Given the description of an element on the screen output the (x, y) to click on. 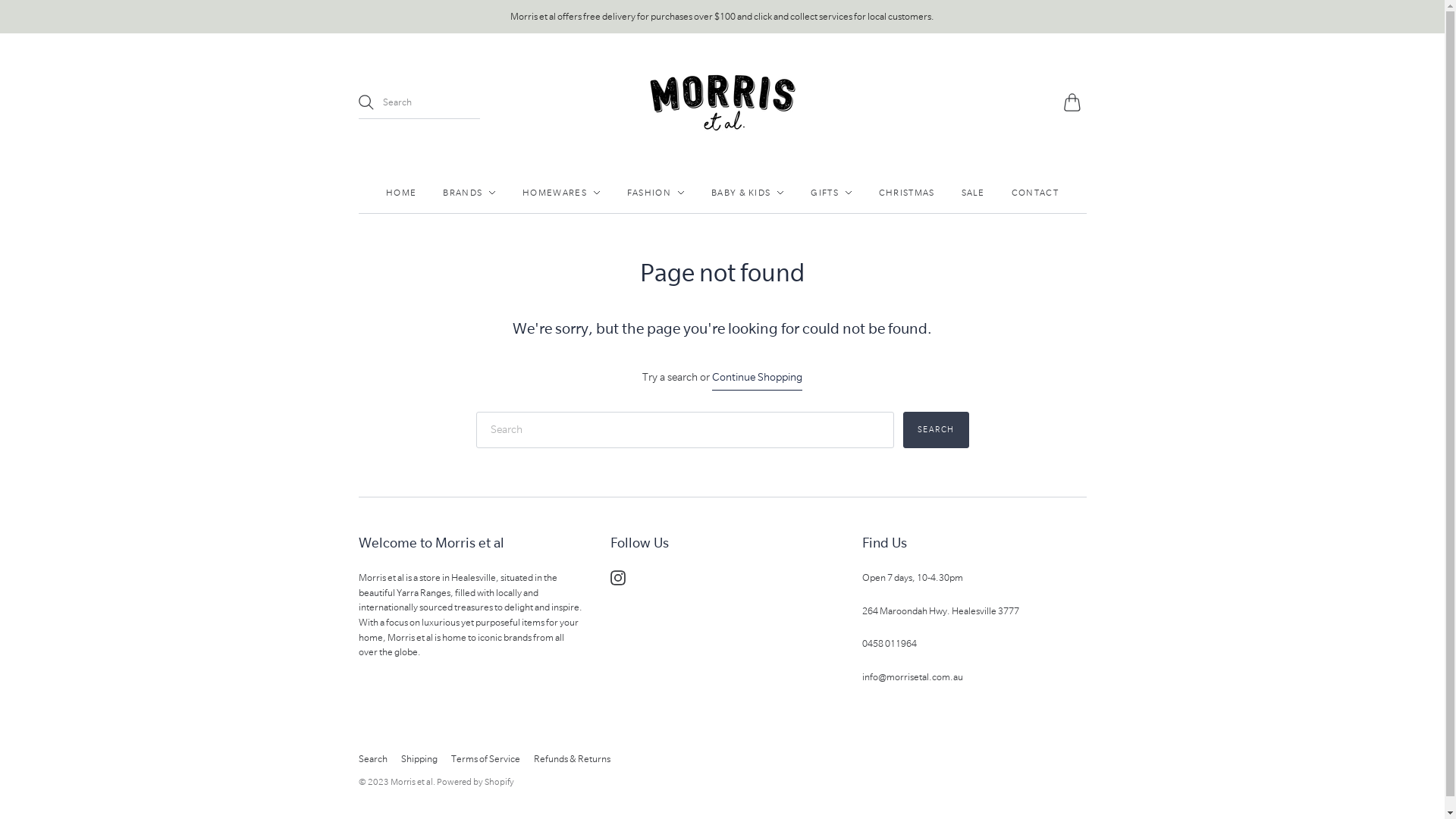
Cart Element type: text (1074, 102)
Search Element type: text (935, 429)
BABY & KIDS Element type: text (747, 192)
SALE Element type: text (973, 192)
Refunds & Returns Element type: text (571, 758)
Powered by Shopify Element type: text (475, 781)
Shipping Element type: text (418, 758)
Search Element type: text (371, 758)
Continue Shopping Element type: text (757, 377)
Morris et al Element type: text (410, 781)
HOME Element type: text (400, 192)
HOMEWARES Element type: text (561, 192)
CONTACT Element type: text (1034, 192)
FASHION Element type: text (655, 192)
CHRISTMAS Element type: text (906, 192)
BRANDS Element type: text (468, 192)
GIFTS Element type: text (831, 192)
Terms of Service Element type: text (484, 758)
